Given the description of an element on the screen output the (x, y) to click on. 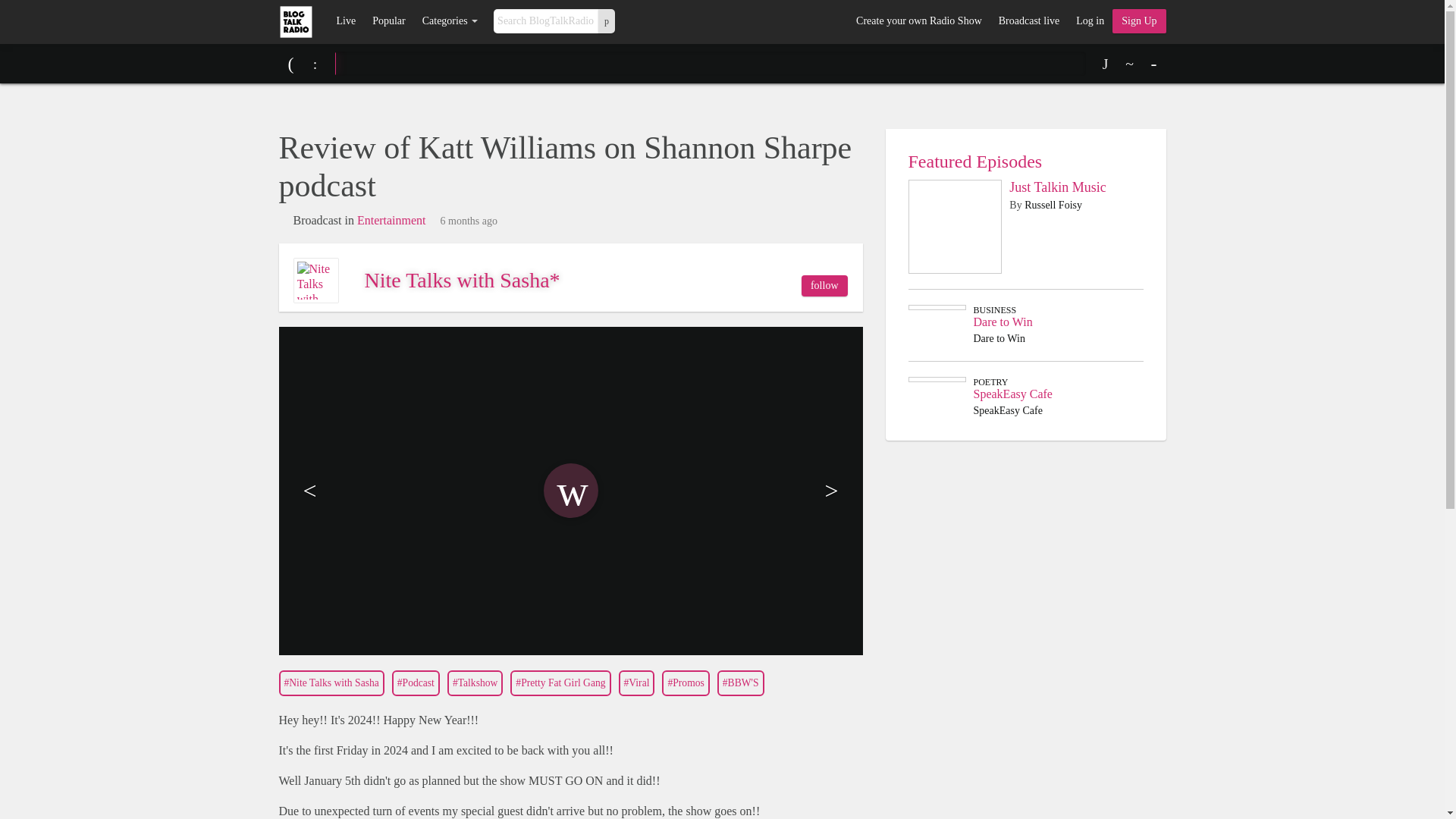
Live (345, 20)
Log in (1089, 20)
Popular (388, 20)
Create My Talk Show (1139, 21)
Broadcast live (1028, 20)
Embed this episode (1129, 63)
Sat, January 6, 2024 10:30 am (469, 221)
Sign Up (1139, 21)
Categories (449, 20)
Create your own Radio Show (918, 20)
Download this episode (1105, 63)
